Given the description of an element on the screen output the (x, y) to click on. 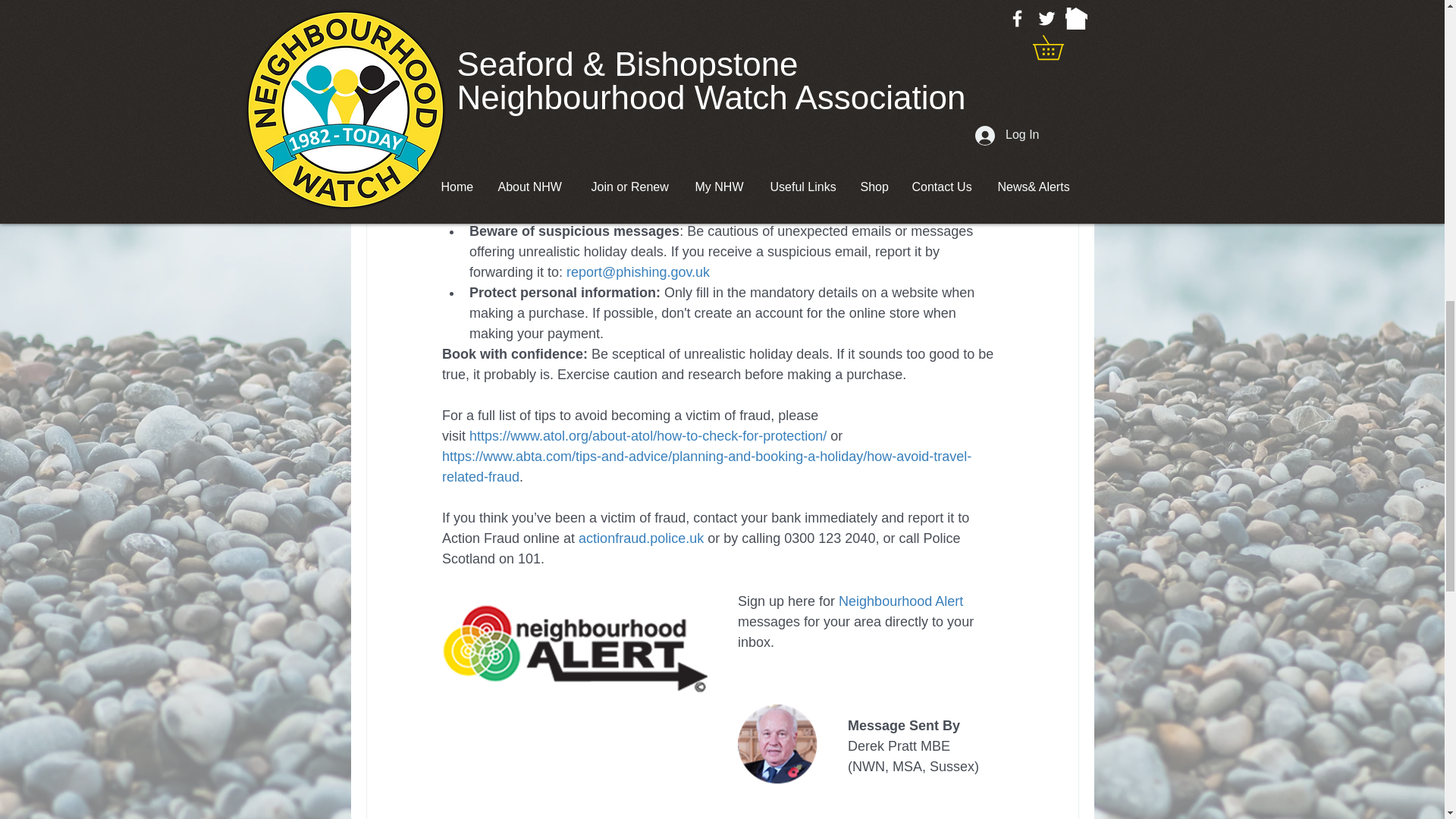
membership of ABTA online on their website (742, 128)
Neighbourhood Alert (900, 601)
actionfraud.police.uk (640, 538)
ATOL website (601, 169)
